Given the description of an element on the screen output the (x, y) to click on. 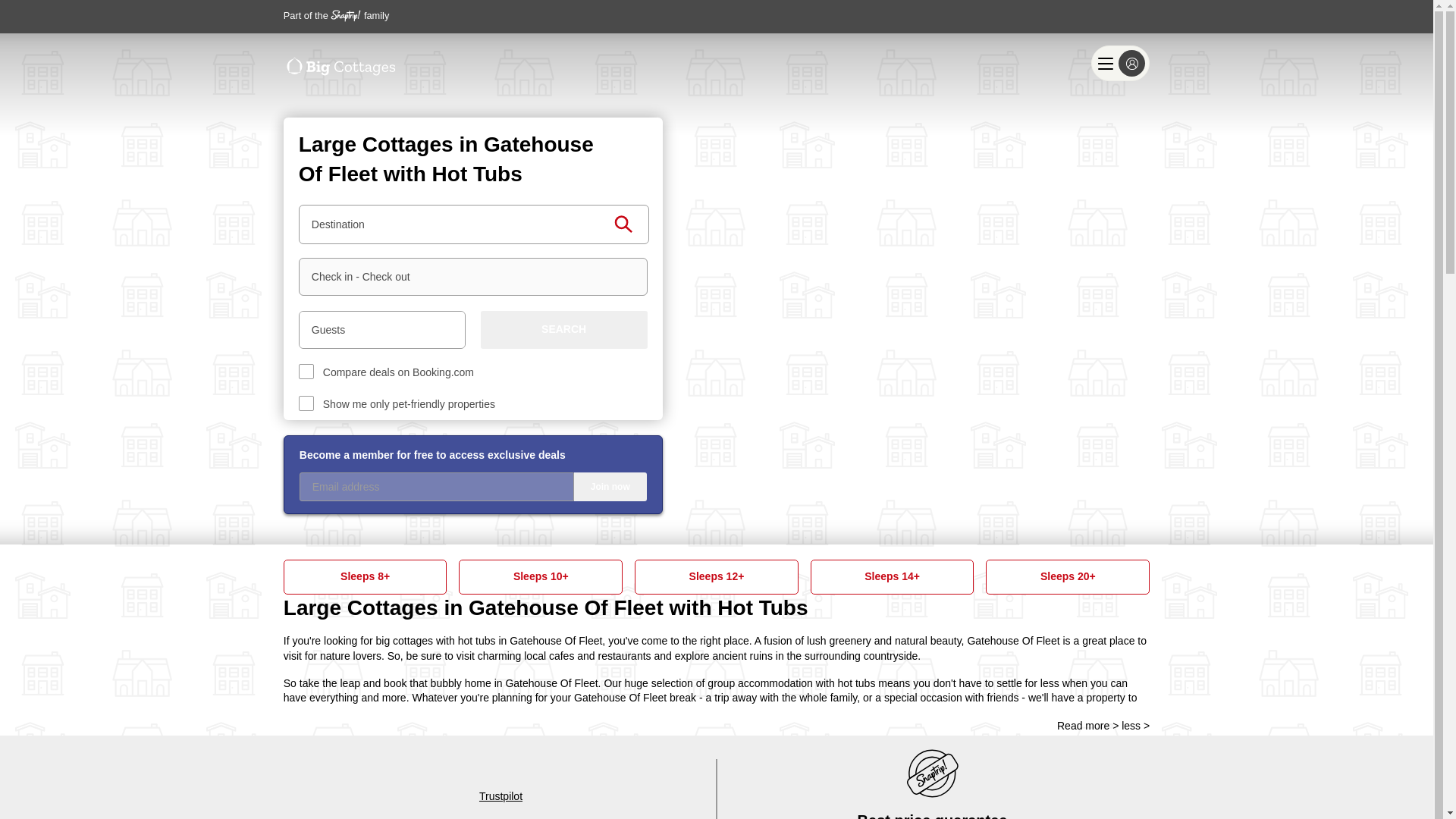
Part of the family (336, 15)
